Given the description of an element on the screen output the (x, y) to click on. 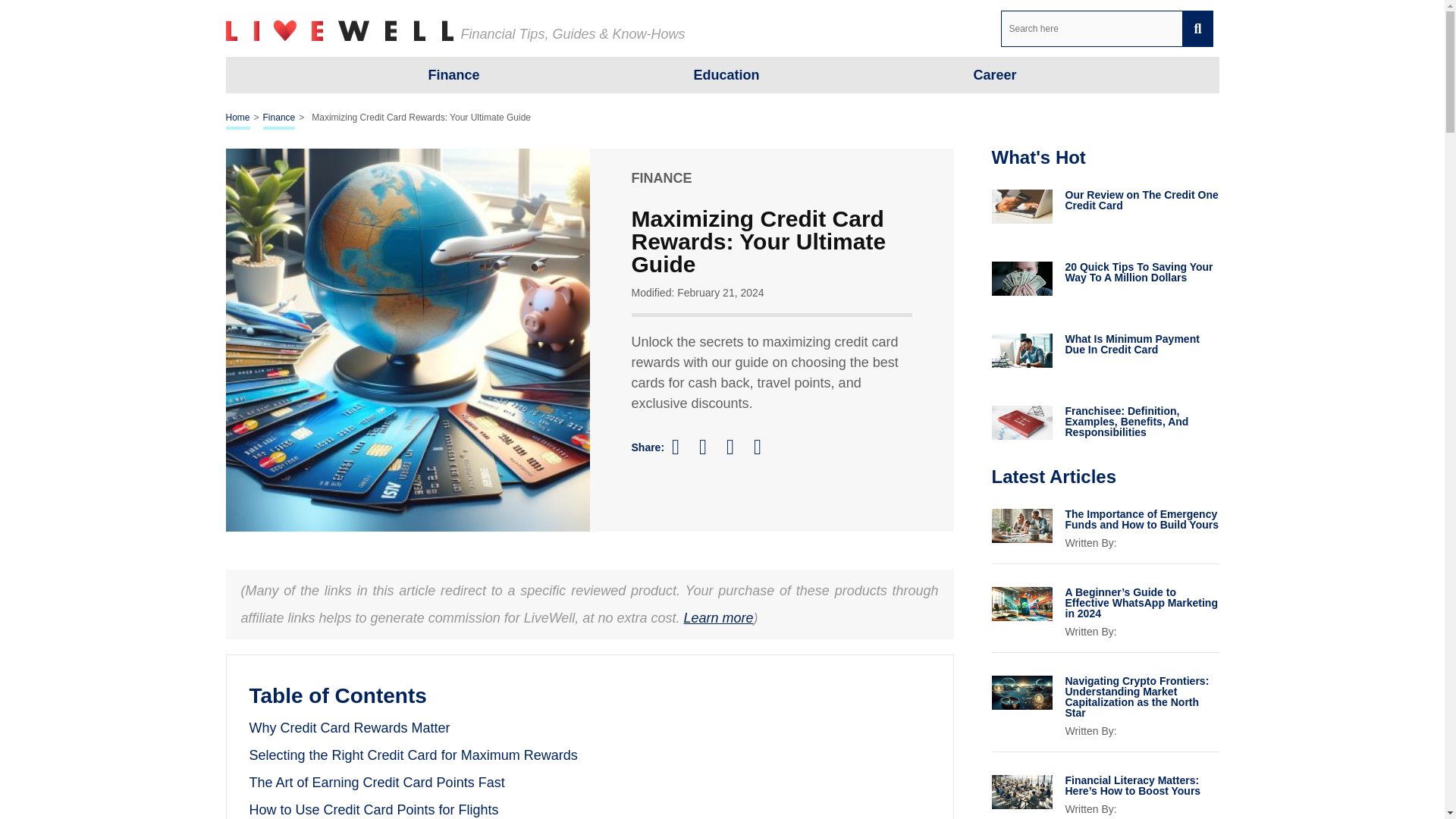
Share on WhatsApp (764, 446)
Share on Pinterest (737, 446)
Education (725, 74)
Career (993, 74)
Share on Twitter (709, 446)
Learn more (717, 617)
Finance (453, 74)
What Is Minimum Payment Due In Credit Card (1141, 343)
20 Quick Tips To Saving Your Way To A Million Dollars (1141, 271)
Our Review on The Credit One Credit Card (1141, 199)
Selecting the Right Credit Card for Maximum Rewards (412, 754)
Share on Facebook (682, 446)
The Art of Earning Credit Card Points Fast (375, 782)
How to Use Credit Card Points for Flights (372, 809)
Finance (279, 118)
